Given the description of an element on the screen output the (x, y) to click on. 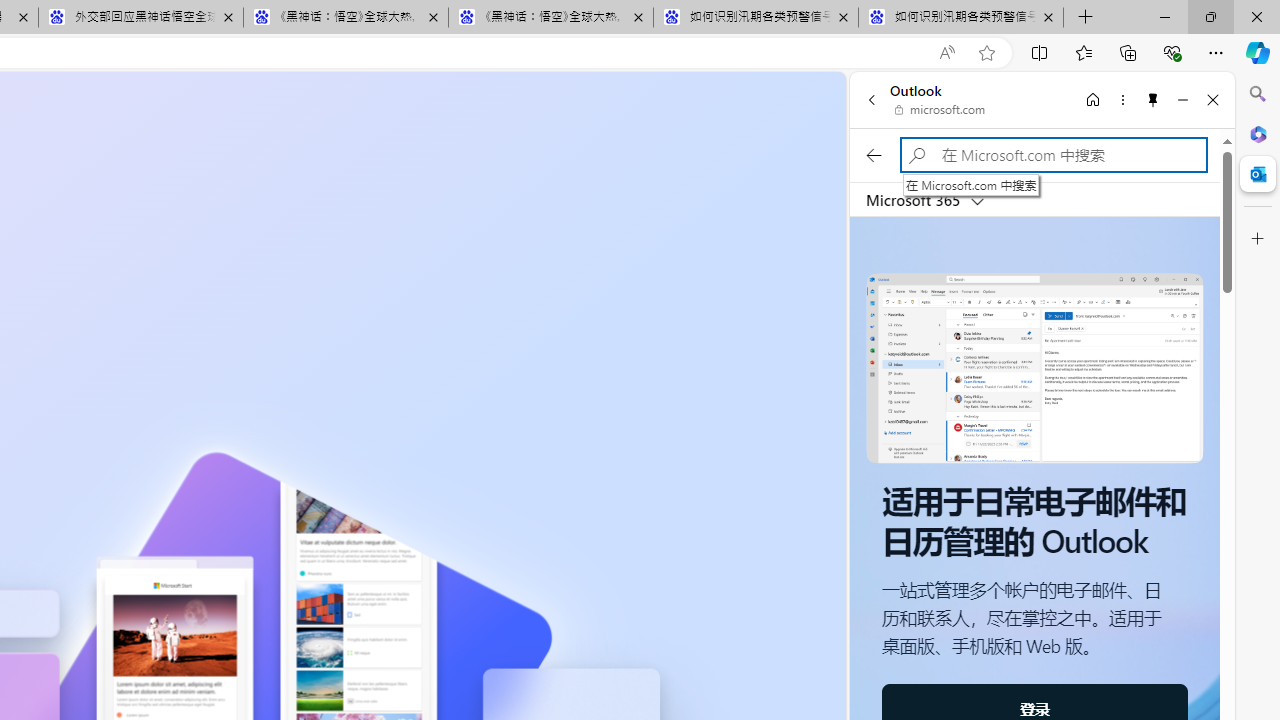
Copilot (Ctrl+Shift+.) (1258, 52)
Collections (1128, 52)
Unpin side pane (1153, 99)
More options (1122, 99)
Outlook (1258, 174)
Minimize (1182, 99)
Home (1093, 99)
microsoft.com (940, 110)
Read aloud this page (Ctrl+Shift+U) (946, 53)
Customize (1258, 239)
Close tab (1048, 16)
Close (1213, 99)
Back (871, 99)
